Given the description of an element on the screen output the (x, y) to click on. 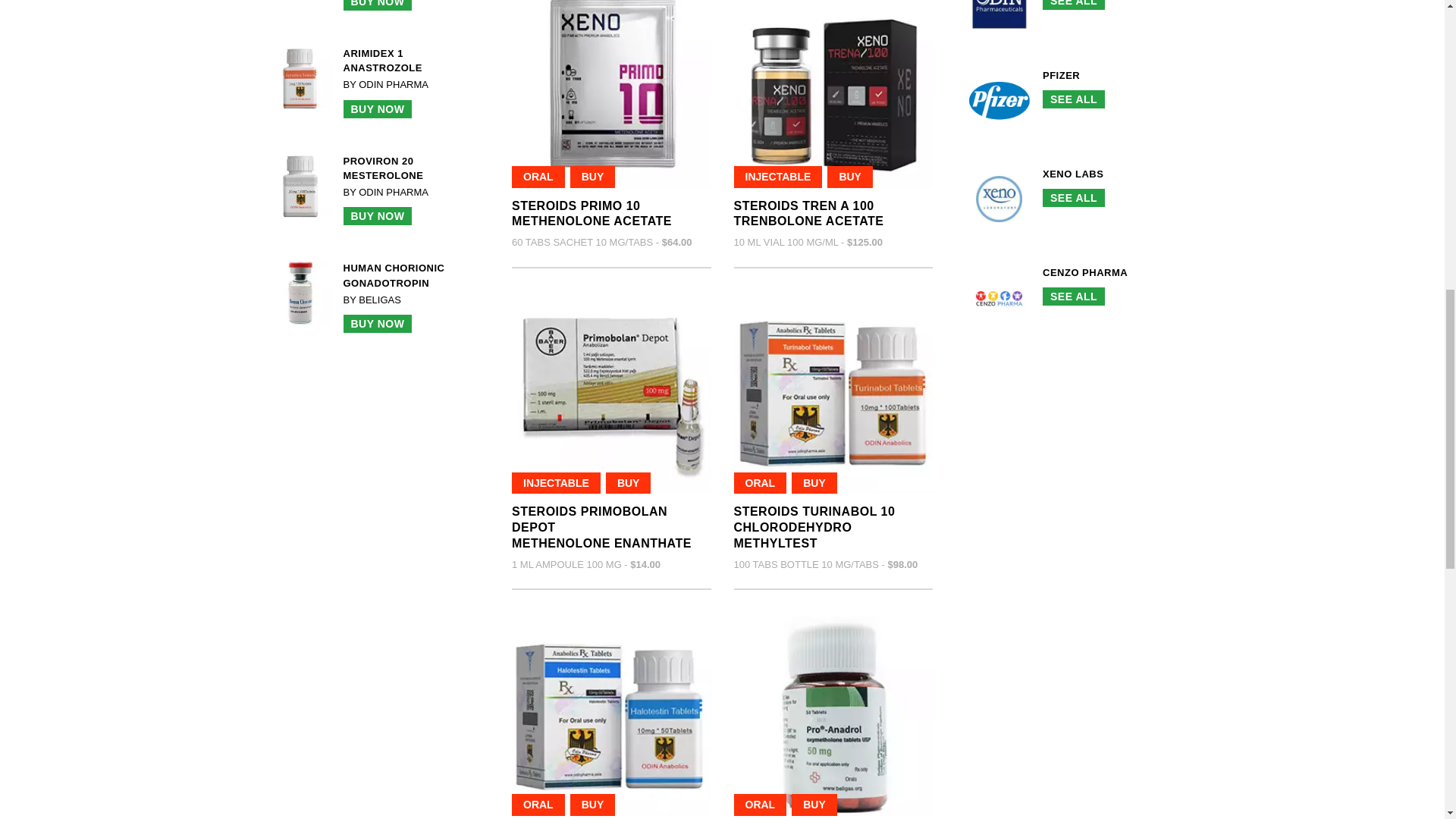
Buy Steroids Halotestin 10 (611, 715)
Buy Steroids Tren A 100 (833, 94)
BUY (627, 483)
INJECTABLE (777, 177)
Buy Steroids Anadrol (833, 715)
ORAL (760, 483)
Buy Steroids Tren A 100 (808, 213)
Buy Steroids Turinabol 10 (833, 394)
BUY (592, 177)
BUY (849, 177)
Buy Steroids Primobolan Depot (601, 527)
ORAL (591, 213)
Buy Steroids Primobolan Depot (808, 213)
